Given the description of an element on the screen output the (x, y) to click on. 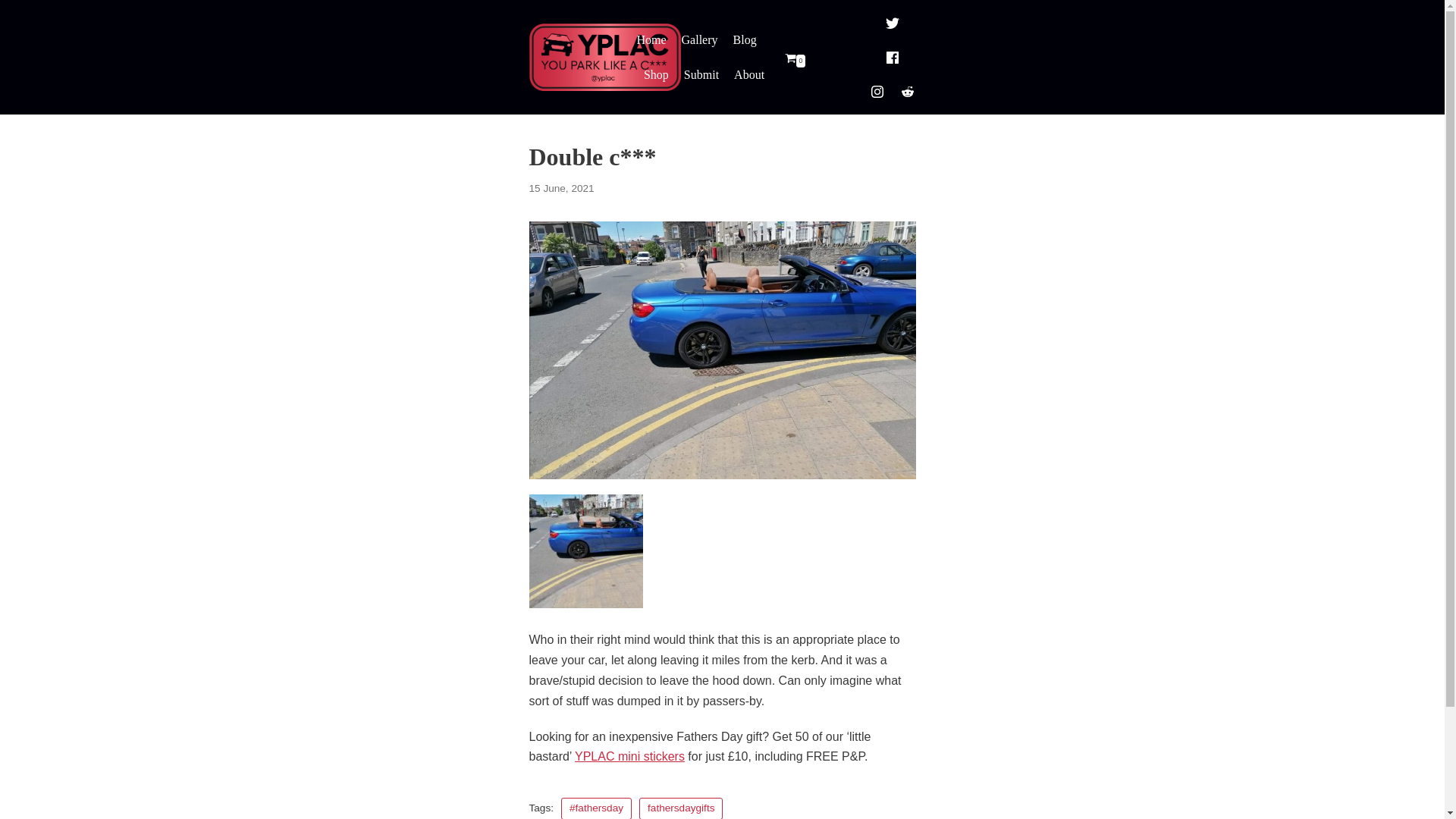
Shop (655, 75)
YPLAC mini stickers (629, 756)
Submit (701, 75)
fathersdaygifts (680, 808)
Home (650, 39)
fathersdaygifts (680, 808)
Blog (745, 39)
Gallery (699, 39)
Skip to content (15, 31)
About (748, 75)
